Given the description of an element on the screen output the (x, y) to click on. 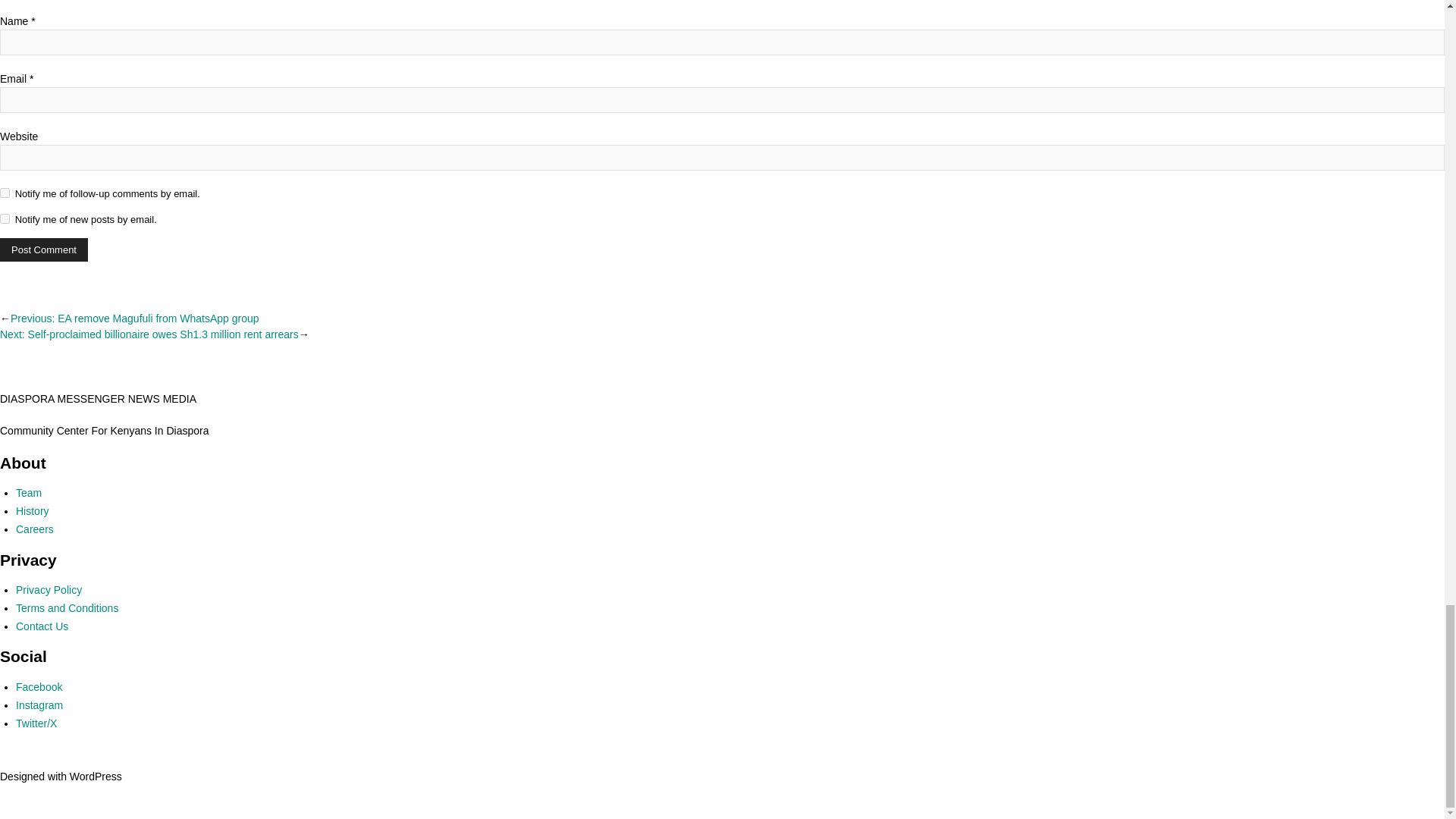
subscribe (5, 218)
Previous: EA remove Magufuli from WhatsApp group (134, 318)
Careers (34, 529)
DIASPORA MESSENGER NEWS MEDIA (98, 398)
Post Comment (43, 249)
Post Comment (43, 249)
Privacy Policy (48, 589)
Team (29, 492)
subscribe (5, 193)
History (32, 510)
